Given the description of an element on the screen output the (x, y) to click on. 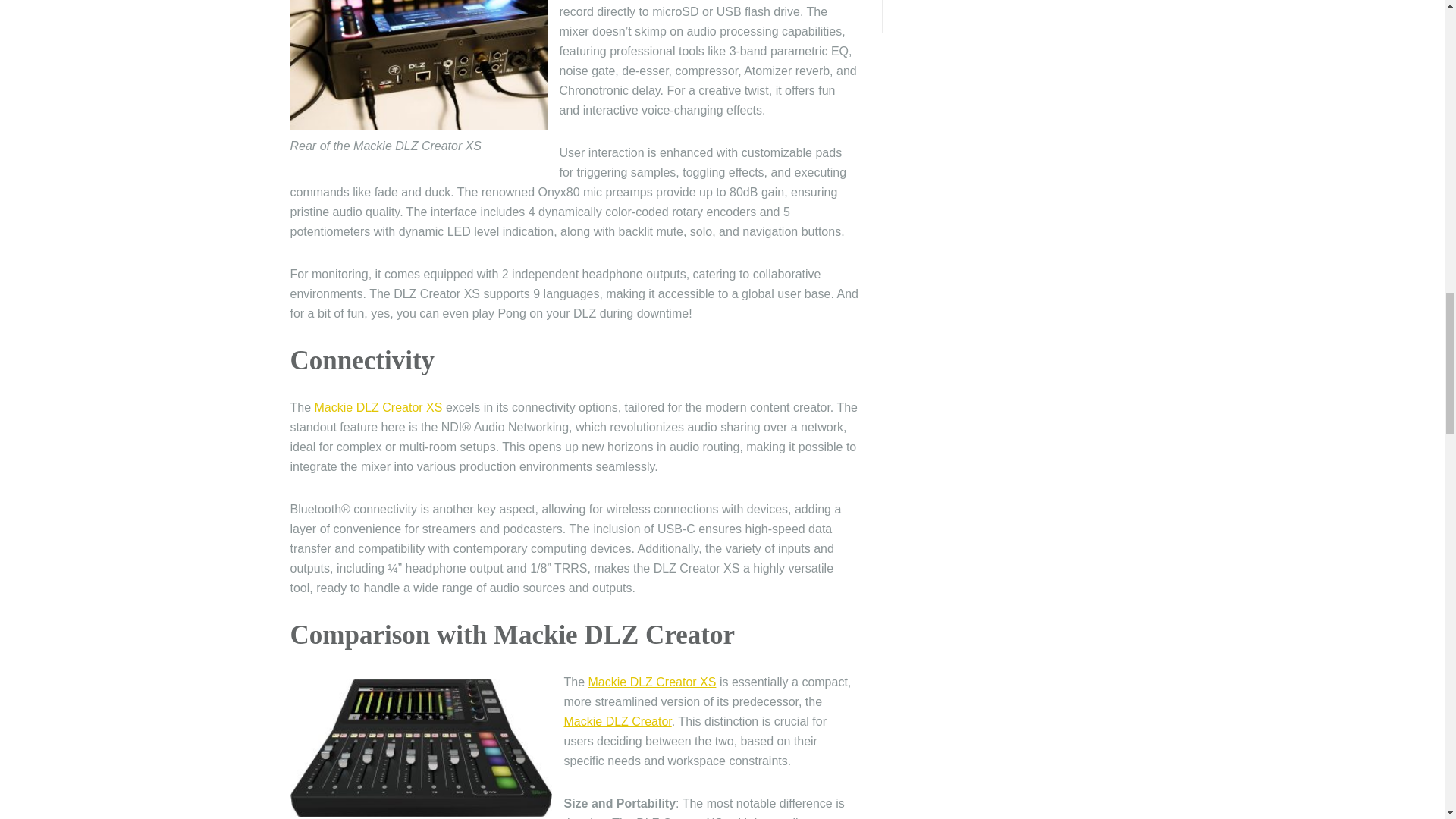
Mackie DLZ Creator (617, 721)
Mackie DLZ Creator XS (652, 681)
Mackie DLZ Creator XS (378, 407)
